Given the description of an element on the screen output the (x, y) to click on. 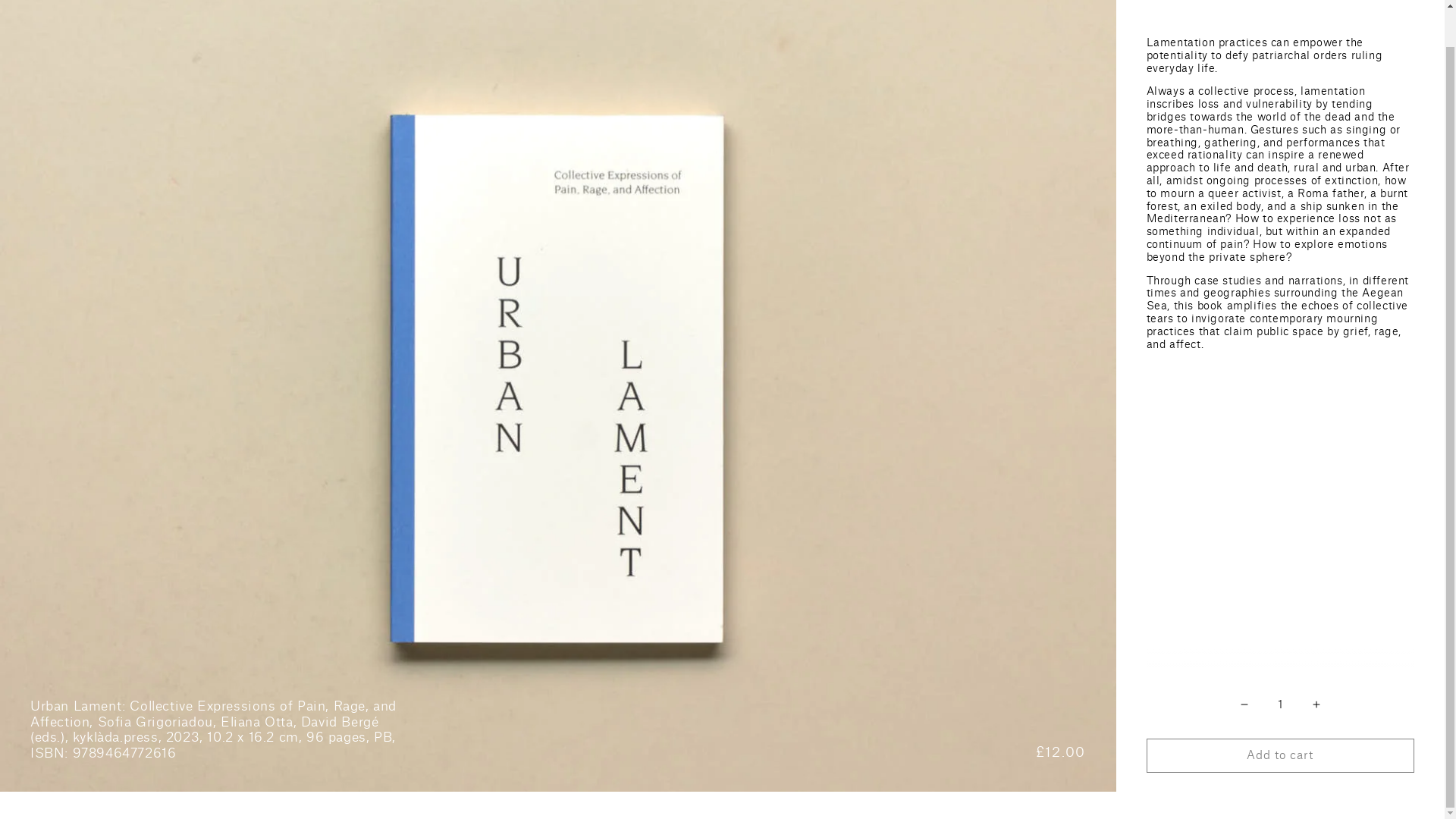
1 (1279, 692)
